Given the description of an element on the screen output the (x, y) to click on. 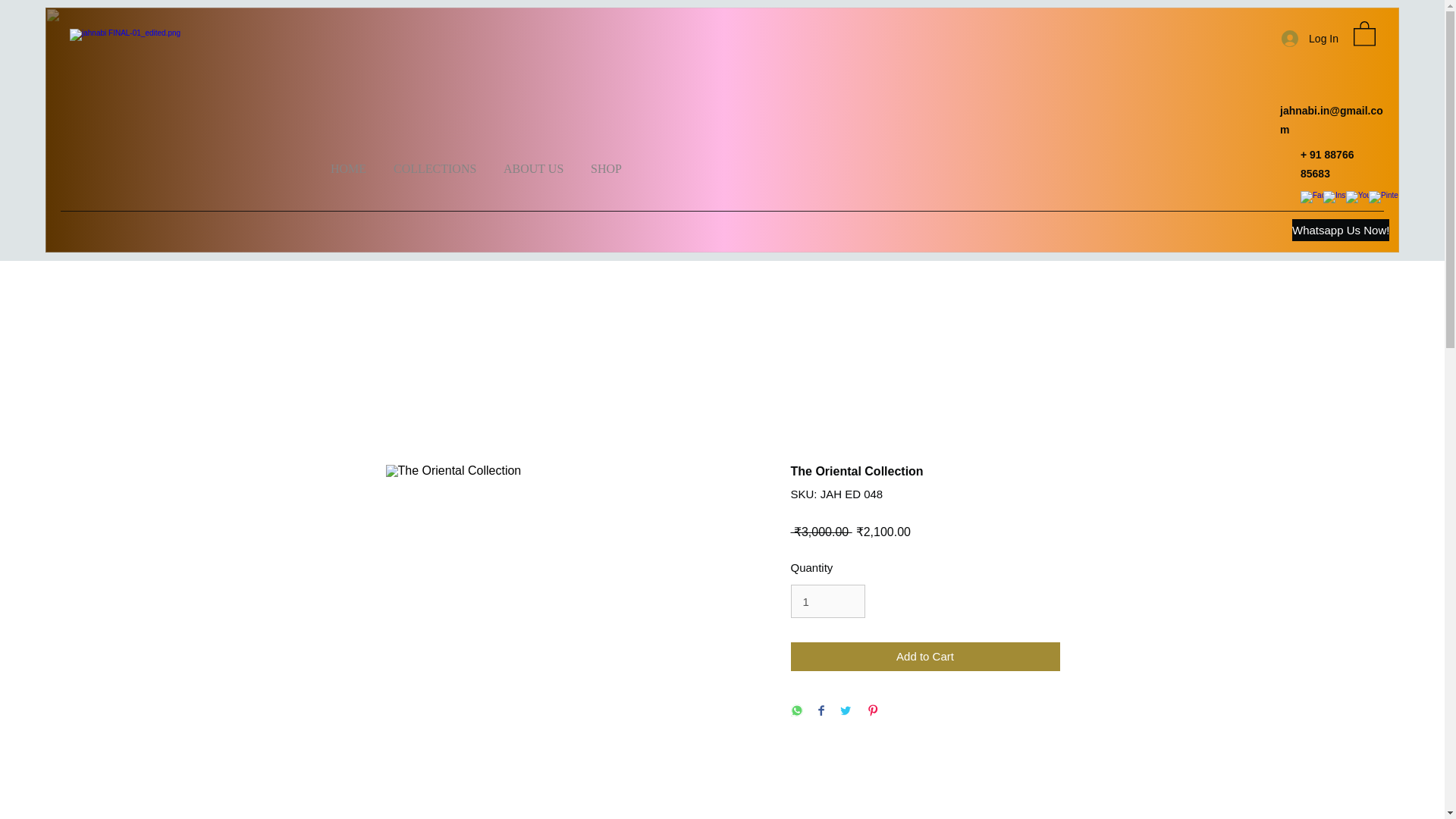
COLLECTIONS (434, 161)
Whatsapp Us Now! (1340, 229)
Add to Cart (924, 656)
HOME (348, 161)
SHOP (605, 161)
Log In (1310, 39)
ABOUT US (532, 161)
1 (827, 601)
